Given the description of an element on the screen output the (x, y) to click on. 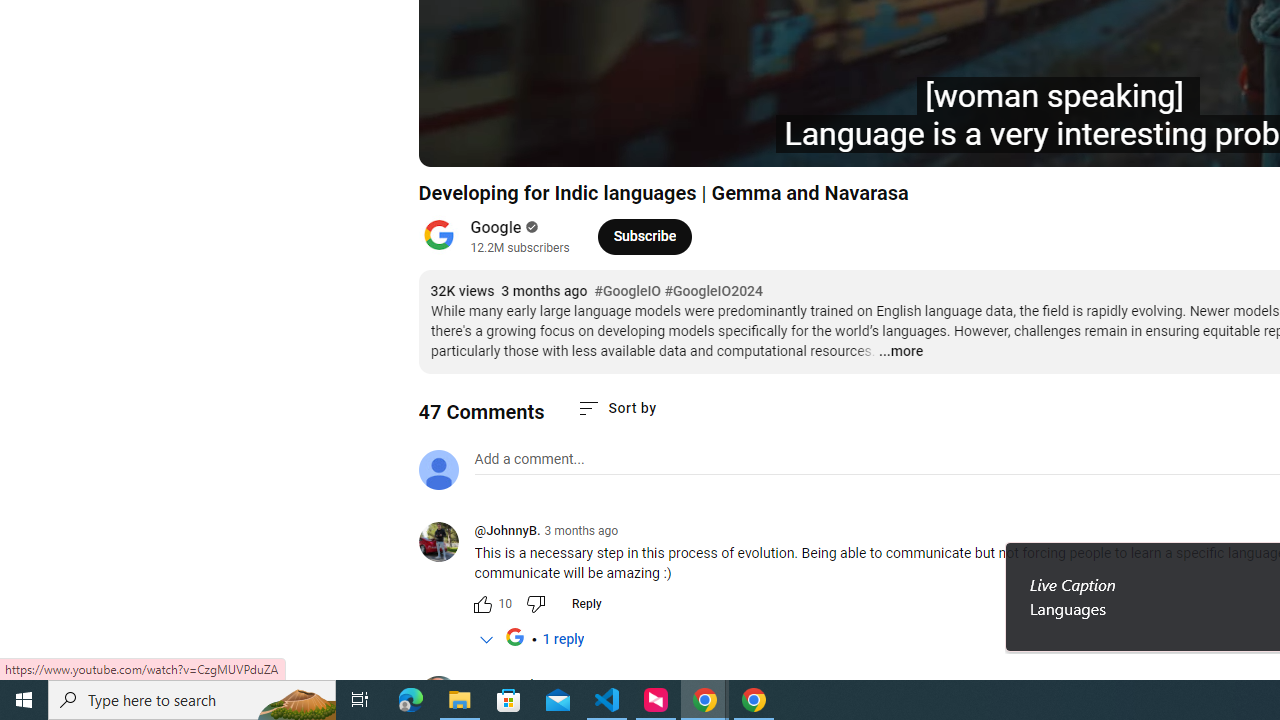
Dislike this comment (534, 603)
Sort comments (616, 408)
#GoogleIO (627, 291)
@JohnnyB. (446, 543)
#GoogleIO2024 (714, 291)
3 months ago (607, 685)
Reply (586, 603)
1 reply (563, 640)
@JohnnyB. (507, 532)
Like this comment along with 10 other people (482, 603)
Default profile photo (438, 470)
